Given the description of an element on the screen output the (x, y) to click on. 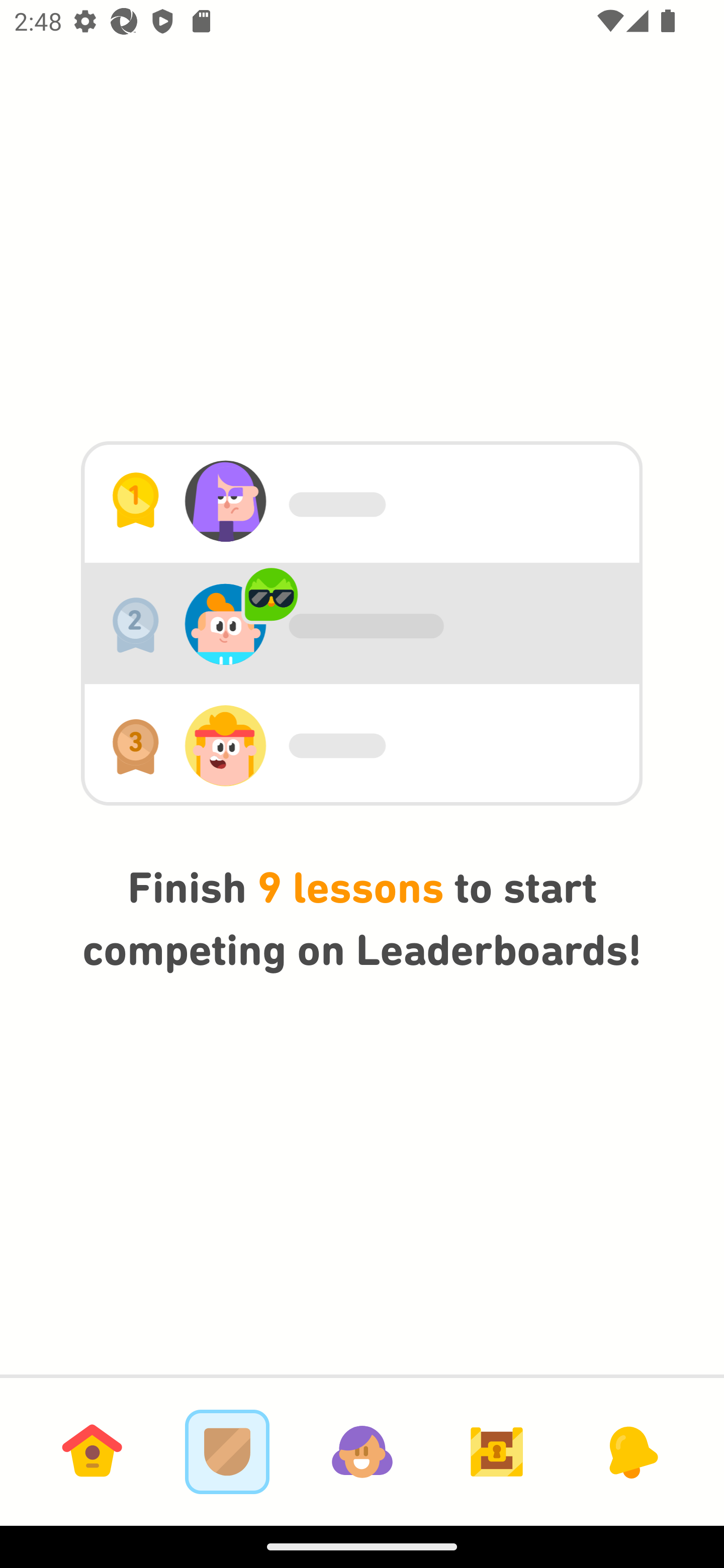
Learn Tab (91, 1451)
Leagues Tab (227, 1451)
Profile Tab (361, 1451)
Goals Tab (496, 1451)
News Tab (631, 1451)
